Given the description of an element on the screen output the (x, y) to click on. 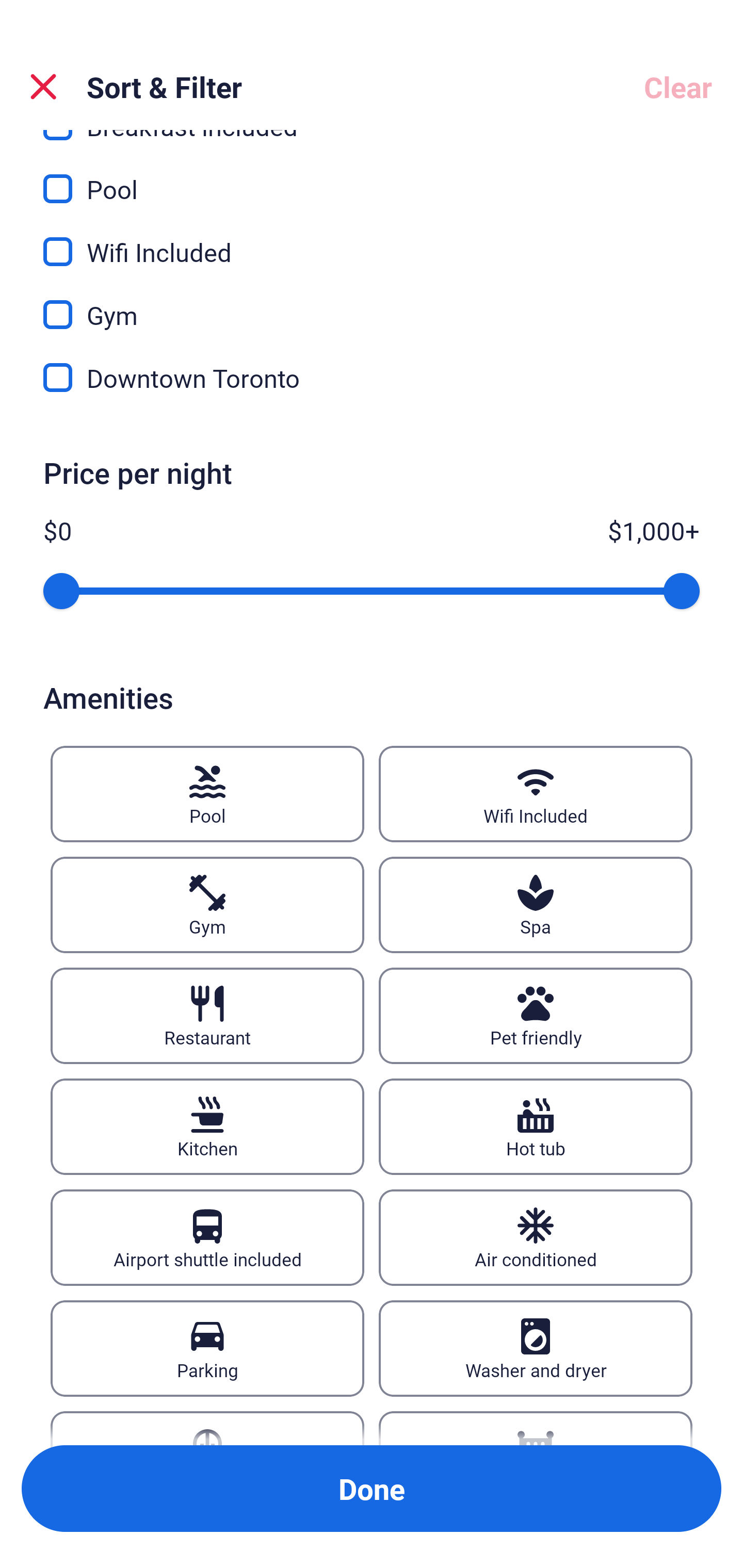
Close Sort and Filter (43, 86)
Clear (677, 86)
Pool, Pool (371, 176)
Wifi Included, Wifi Included (371, 239)
Gym, Gym (371, 302)
Downtown Toronto, Downtown Toronto (371, 377)
Pool (207, 794)
Wifi Included (535, 794)
Gym (207, 904)
Spa (535, 904)
Restaurant (207, 1015)
Pet friendly (535, 1015)
Kitchen (207, 1126)
Hot tub (535, 1126)
Airport shuttle included (207, 1237)
Air conditioned (535, 1237)
Parking (207, 1348)
Washer and dryer (535, 1348)
Apply and close Sort and Filter Done (371, 1488)
